Given the description of an element on the screen output the (x, y) to click on. 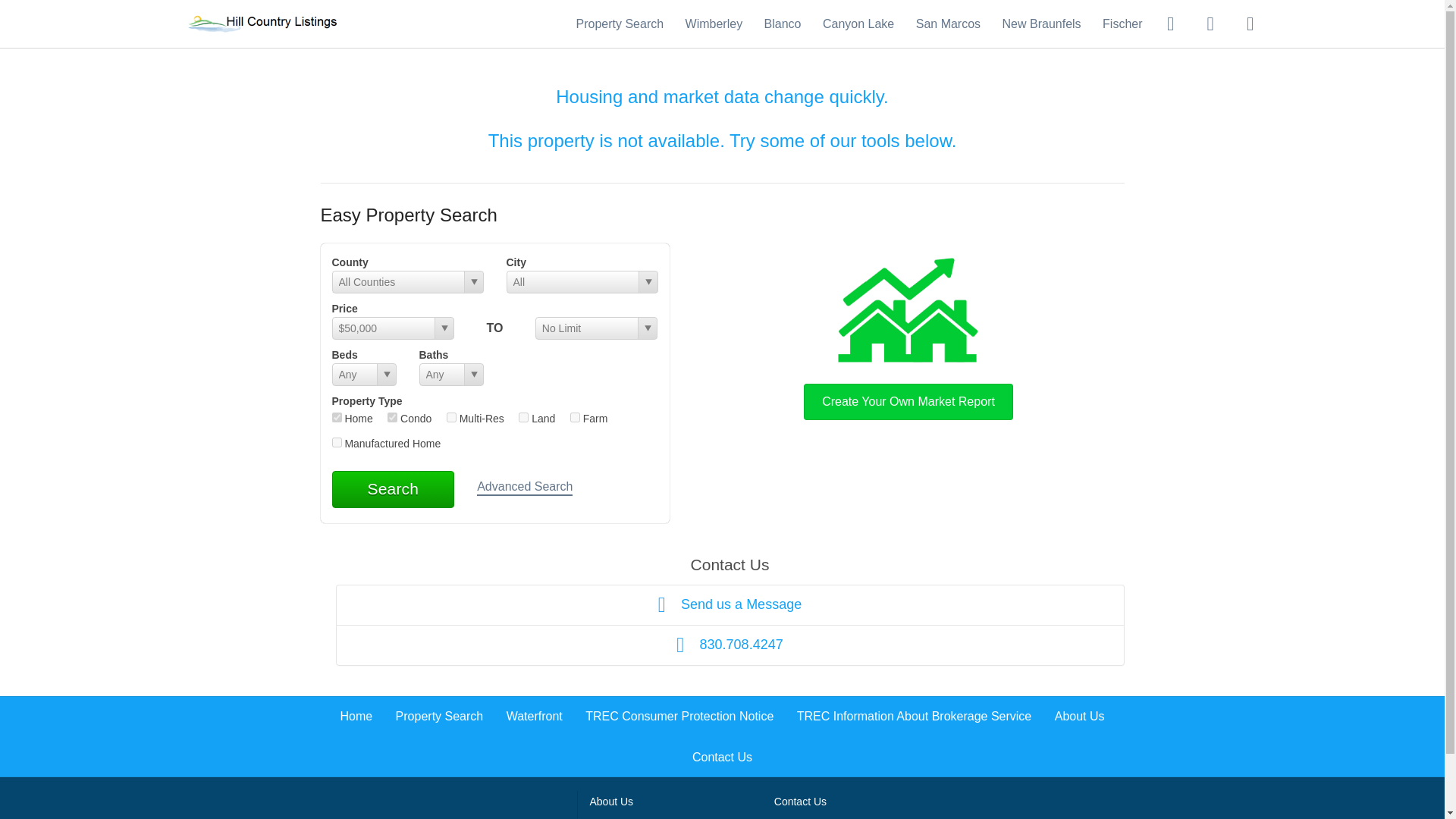
Search (392, 488)
Waterfront (534, 716)
frm (574, 417)
New Braunfels (1042, 23)
Create Your Own Market Report (908, 335)
mul (451, 417)
TREC Consumer Protection Notice (679, 716)
Send us a Message (729, 604)
Home (355, 716)
con (392, 417)
Wimberley (713, 23)
Contact Us (800, 801)
About Us (1079, 716)
About Us (611, 801)
San Marcos (947, 23)
